Given the description of an element on the screen output the (x, y) to click on. 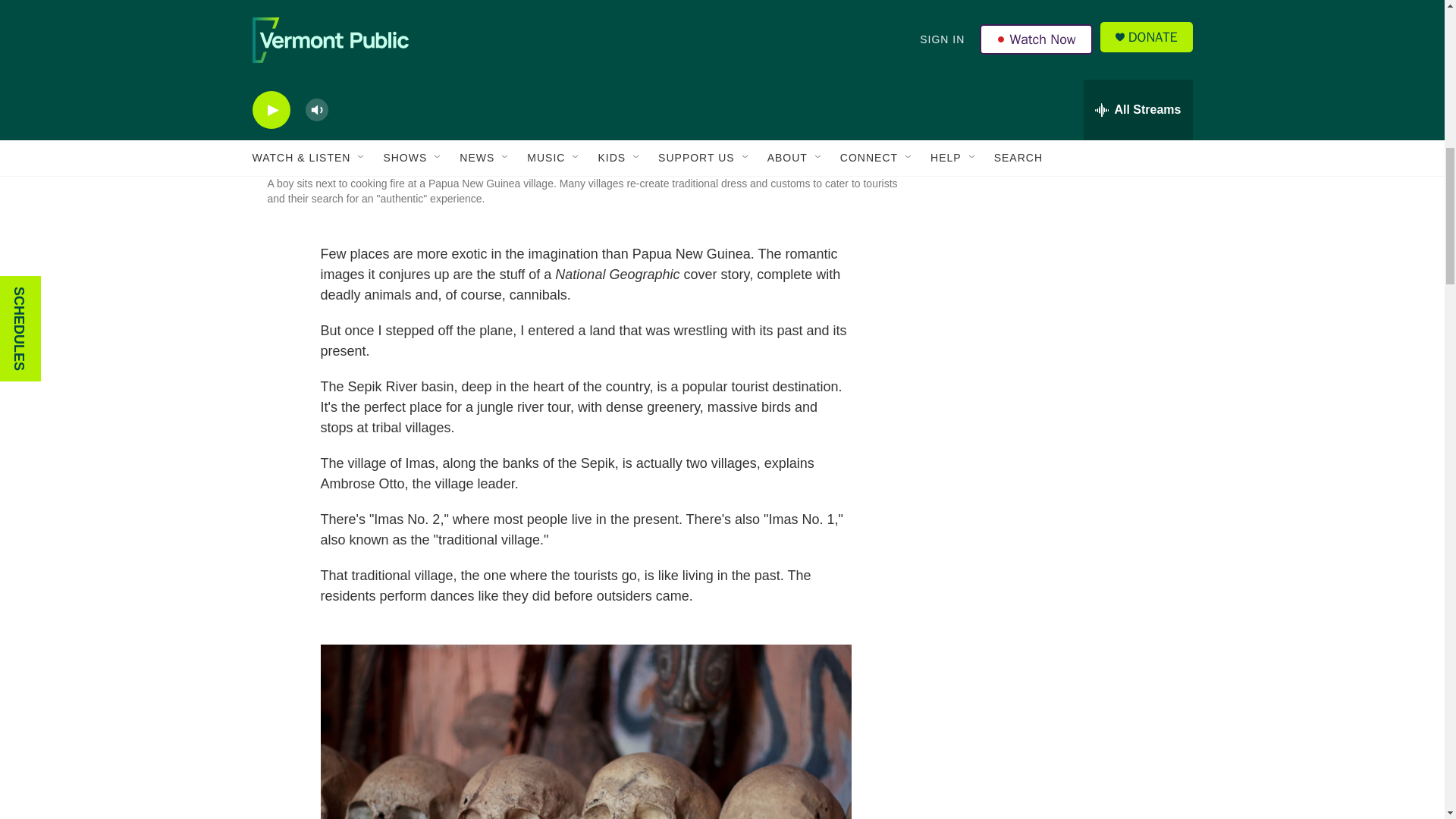
3rd party ad content (1062, 124)
3rd party ad content (1062, 343)
